Given the description of an element on the screen output the (x, y) to click on. 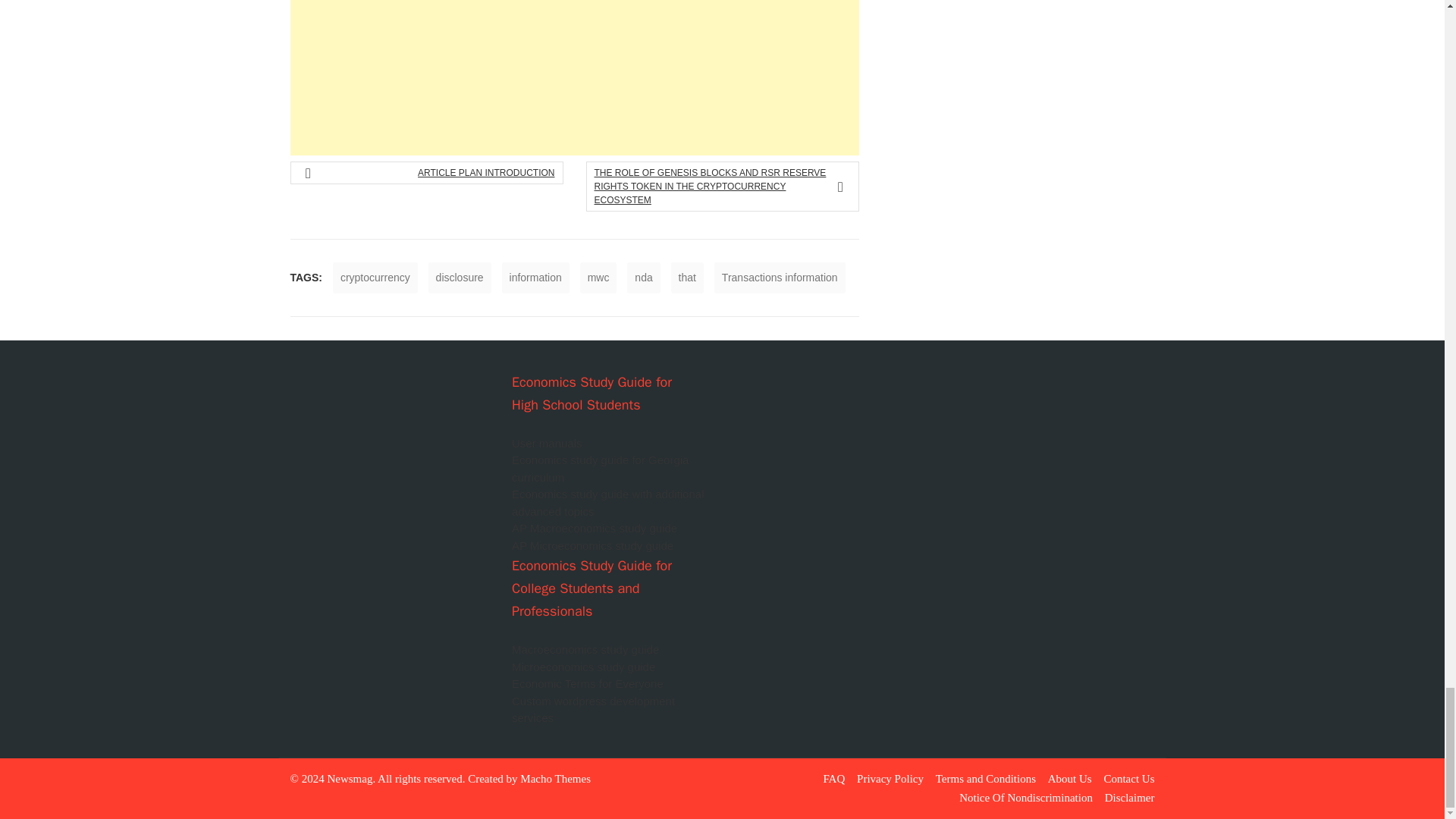
information (535, 277)
mwc (598, 277)
nda (643, 277)
disclosure (460, 277)
that (687, 277)
ARTICLE PLAN INTRODUCTION (432, 172)
cryptocurrency (375, 277)
Transactions information (779, 277)
Professional WordPress Themes (555, 778)
